Given the description of an element on the screen output the (x, y) to click on. 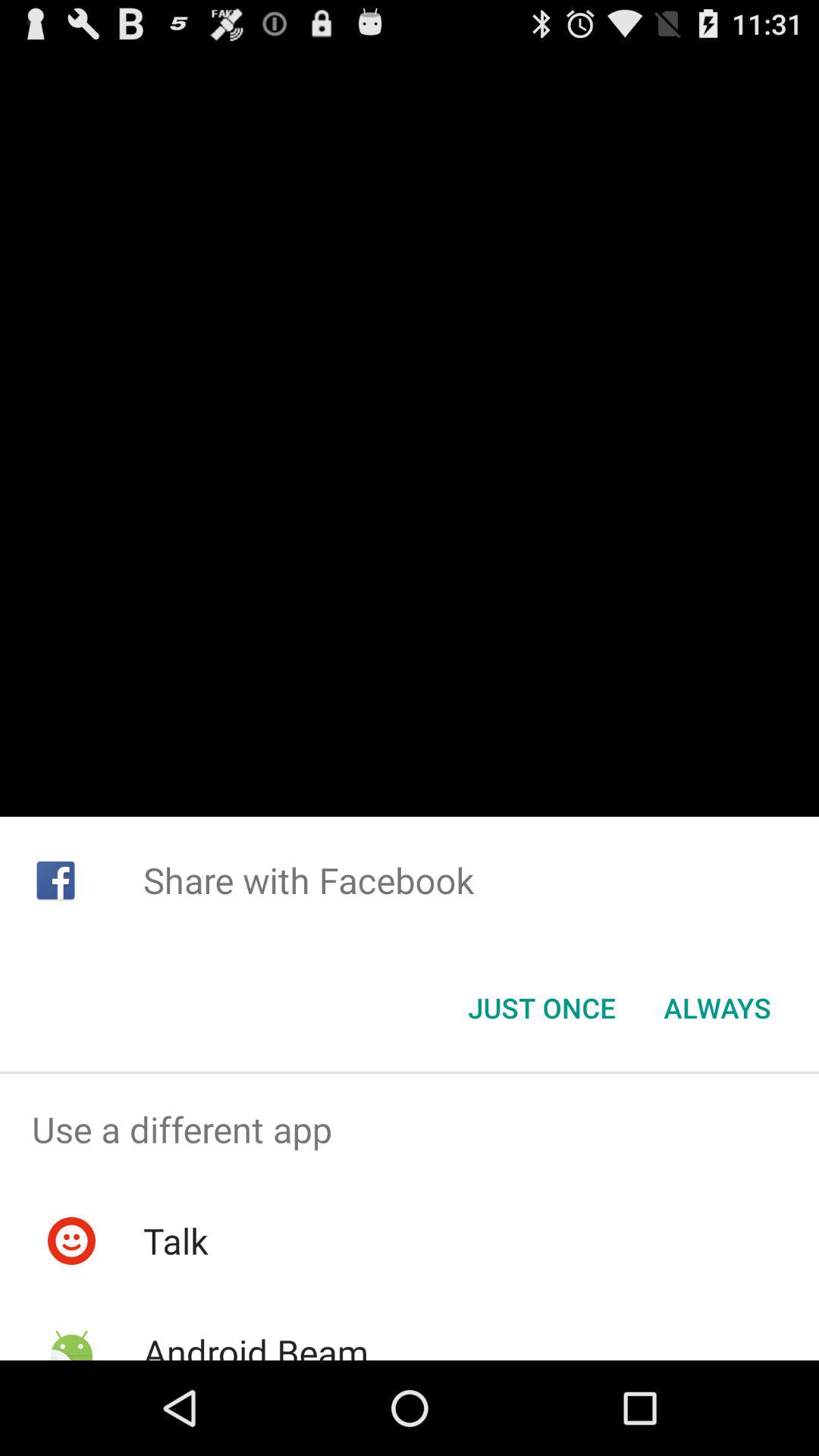
flip until the use a different (409, 1129)
